Given the description of an element on the screen output the (x, y) to click on. 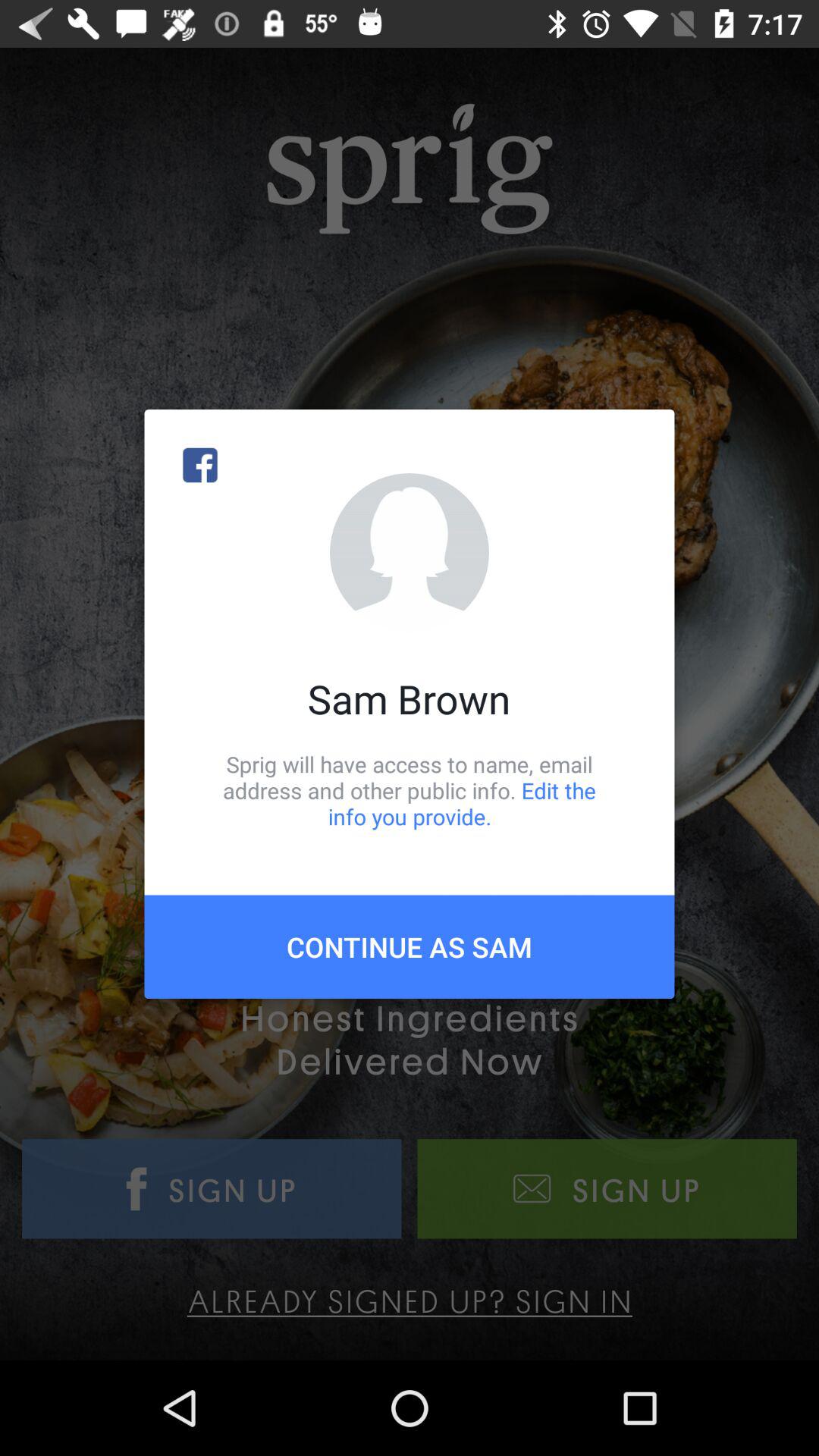
turn on the icon below sprig will have (409, 946)
